Given the description of an element on the screen output the (x, y) to click on. 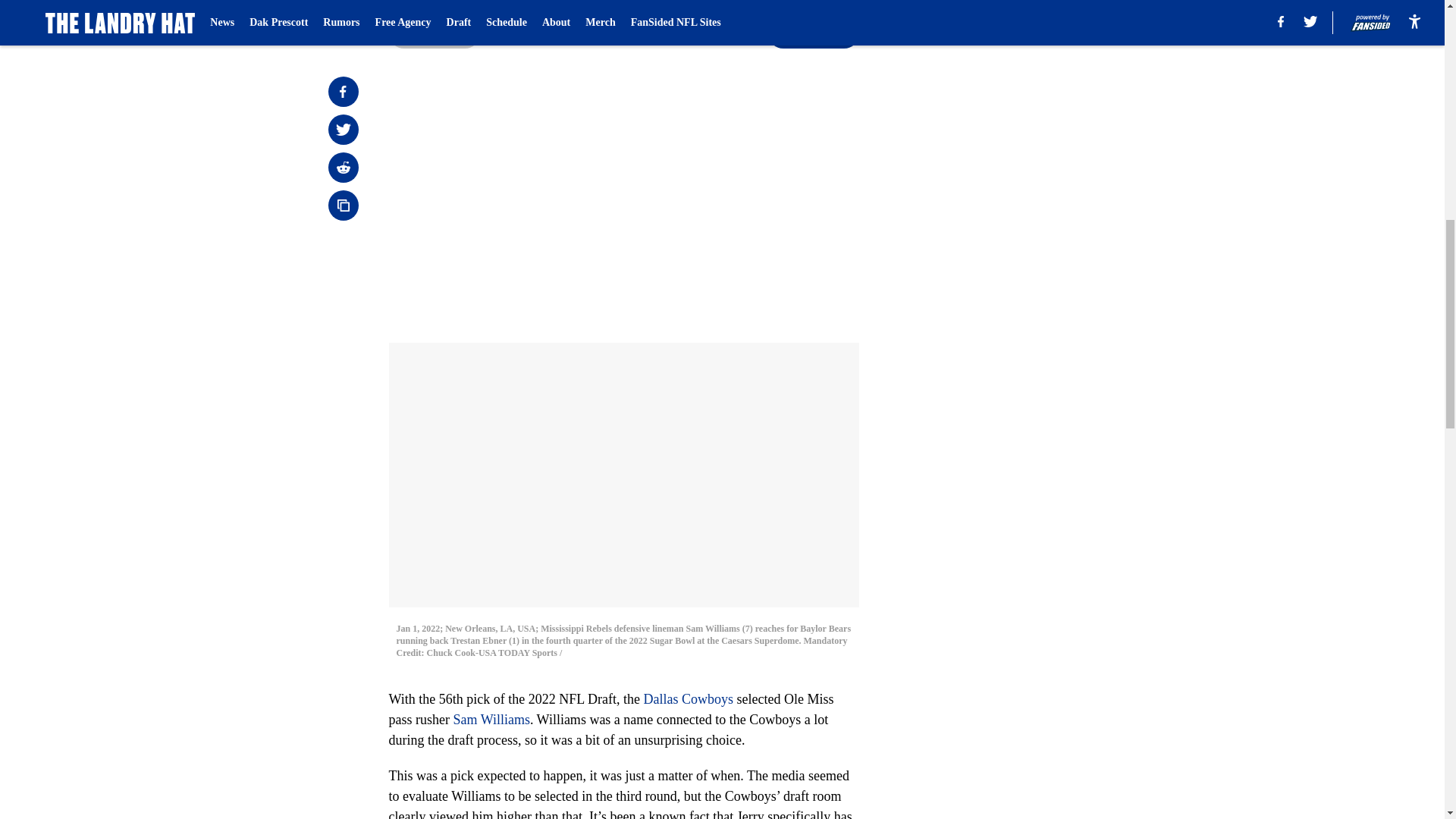
Prev (433, 33)
Dallas Cowboys (688, 698)
Next (813, 33)
Sam Williams (490, 719)
